Given the description of an element on the screen output the (x, y) to click on. 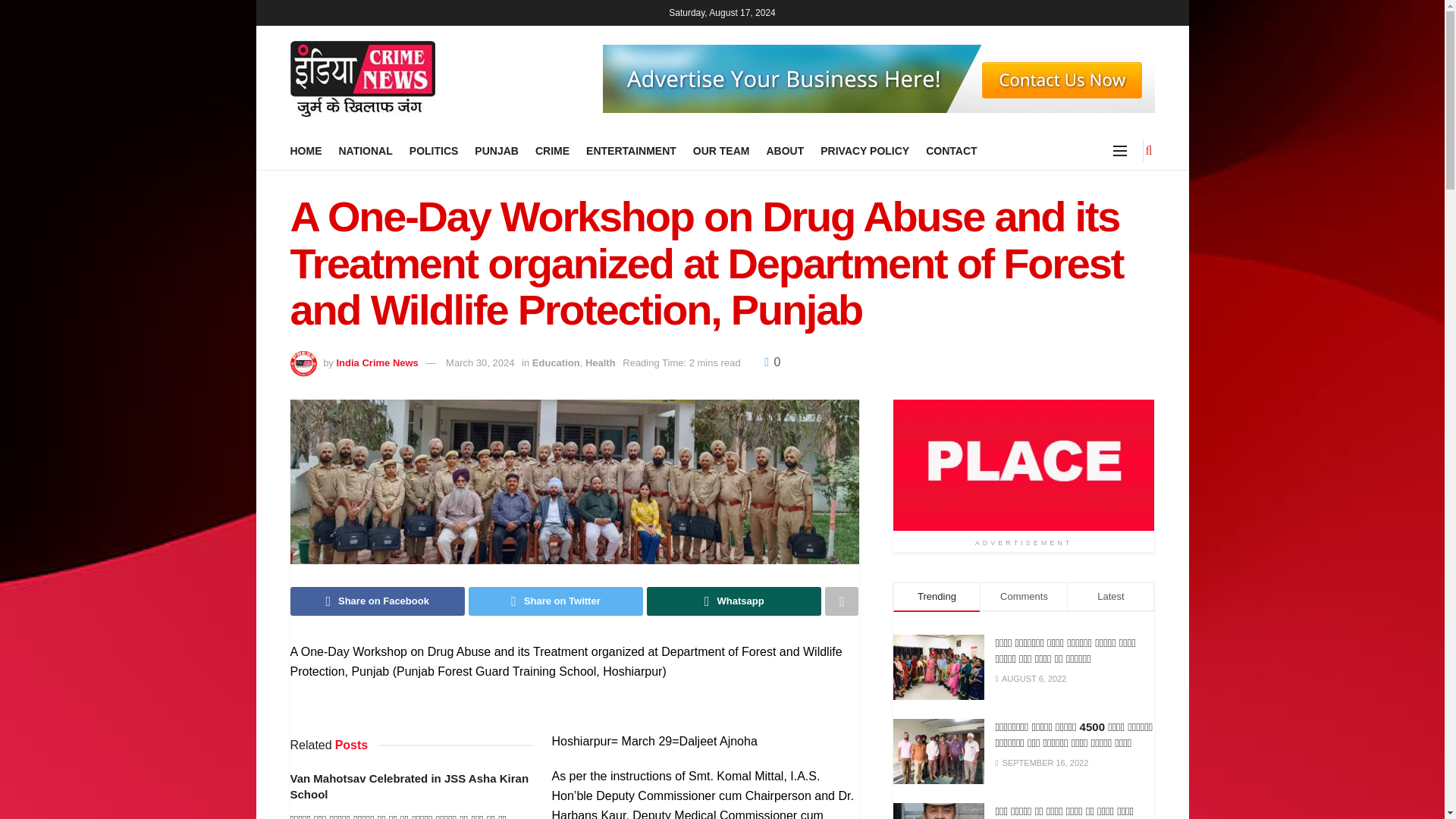
POLITICS (433, 150)
PRIVACY POLICY (864, 150)
March 30, 2024 (479, 362)
0 (772, 361)
ABOUT (784, 150)
NATIONAL (364, 150)
Health (600, 362)
Share on Twitter (555, 601)
Whatsapp (733, 601)
CRIME (552, 150)
